Given the description of an element on the screen output the (x, y) to click on. 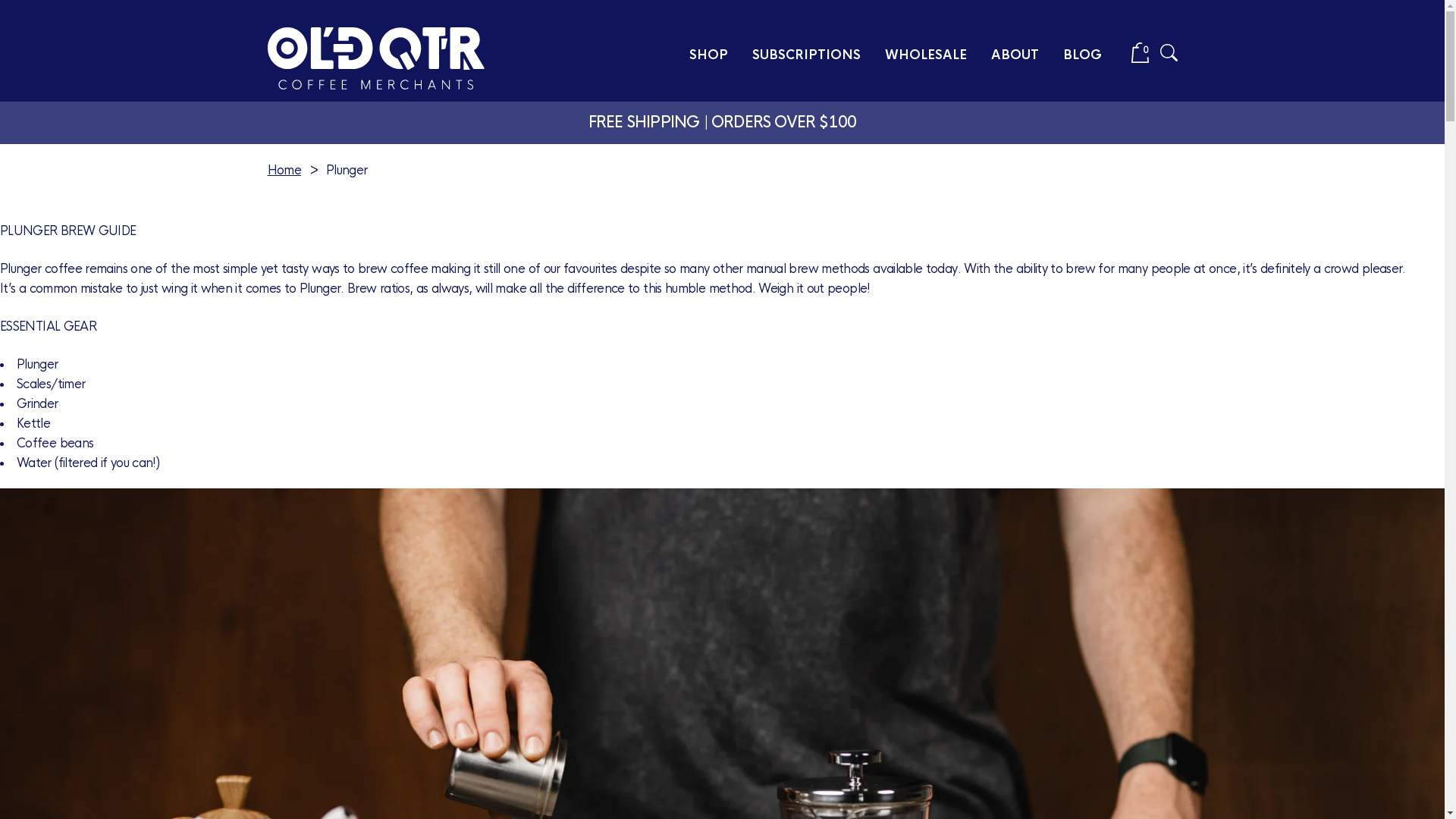
0 Element type: text (1139, 58)
SUBSCRIPTIONS Element type: text (806, 55)
WHOLESALE Element type: text (925, 55)
BLOG Element type: text (1082, 55)
ABOUT Element type: text (1014, 55)
FREE SHIPPING | ORDERS OVER $100 Element type: text (722, 121)
Home Element type: text (283, 170)
SHOP Element type: text (707, 55)
